Given the description of an element on the screen output the (x, y) to click on. 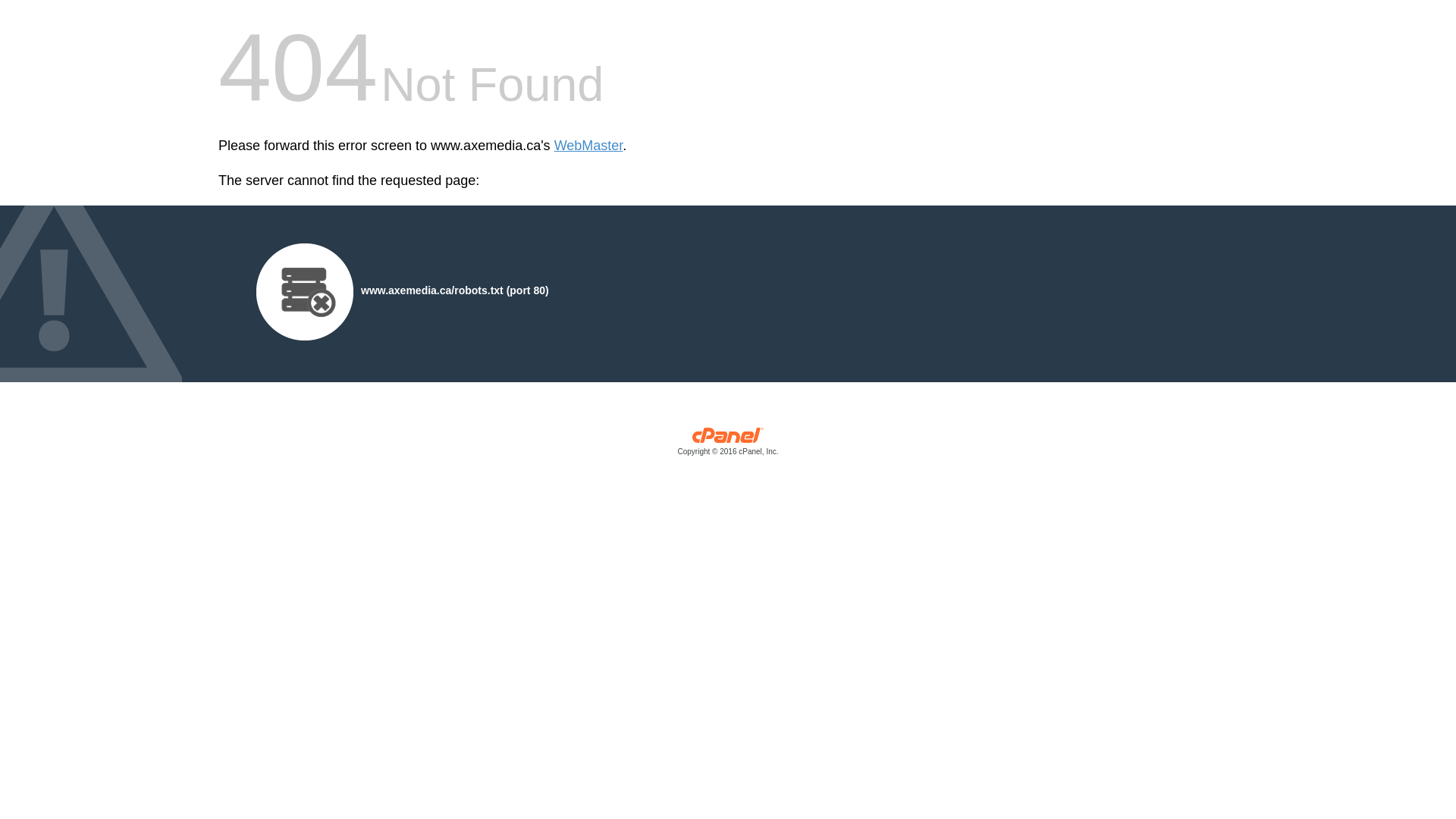
WebMaster Element type: text (588, 145)
